Given the description of an element on the screen output the (x, y) to click on. 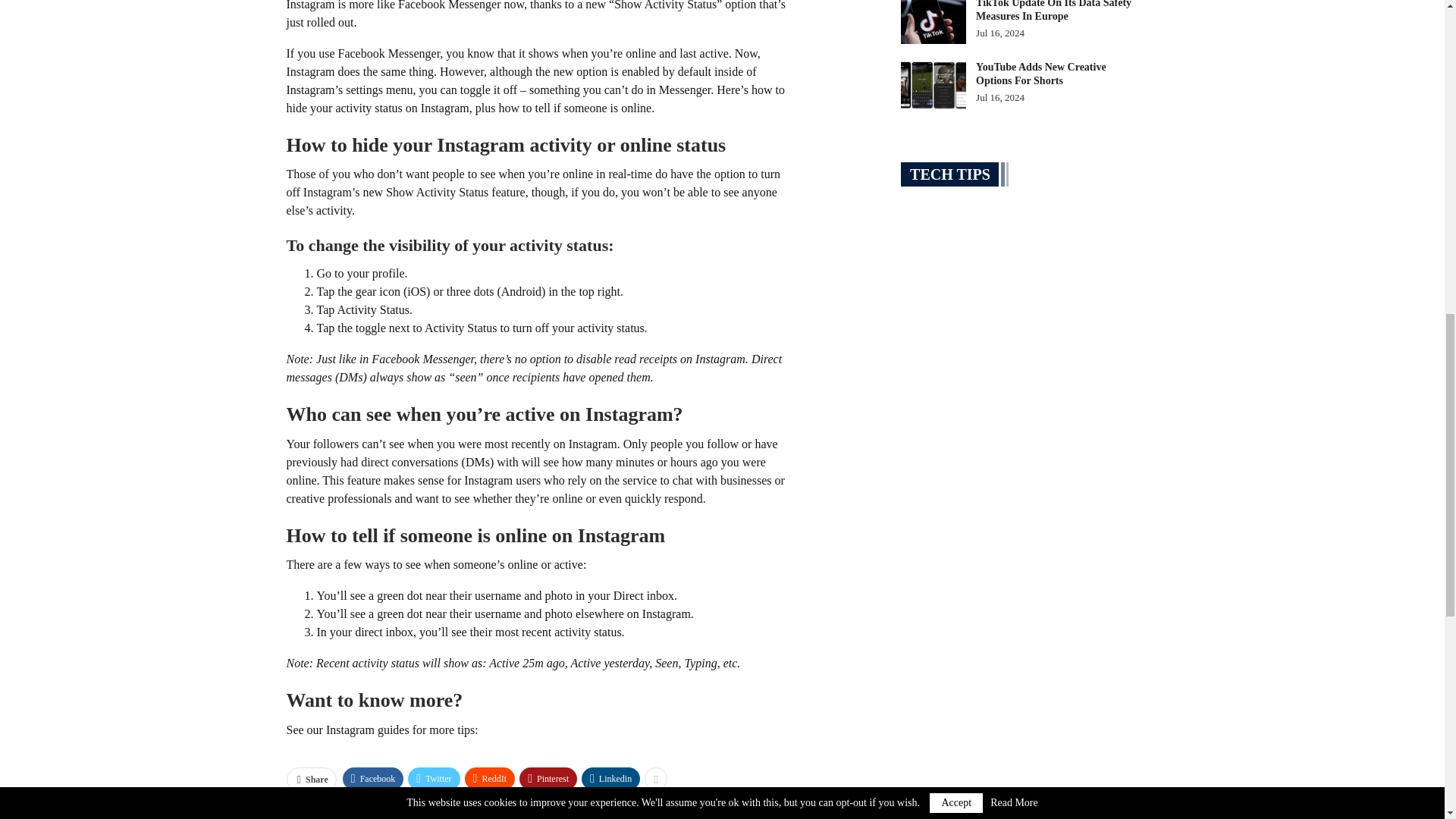
YouTube Adds New Creative Options for Shorts (933, 84)
TikTok Update on Its Data Safety Measures in Europe (933, 22)
Pinterest (547, 778)
Facebook (373, 778)
ReddIt (489, 778)
Twitter (433, 778)
Linkedin (610, 778)
